Given the description of an element on the screen output the (x, y) to click on. 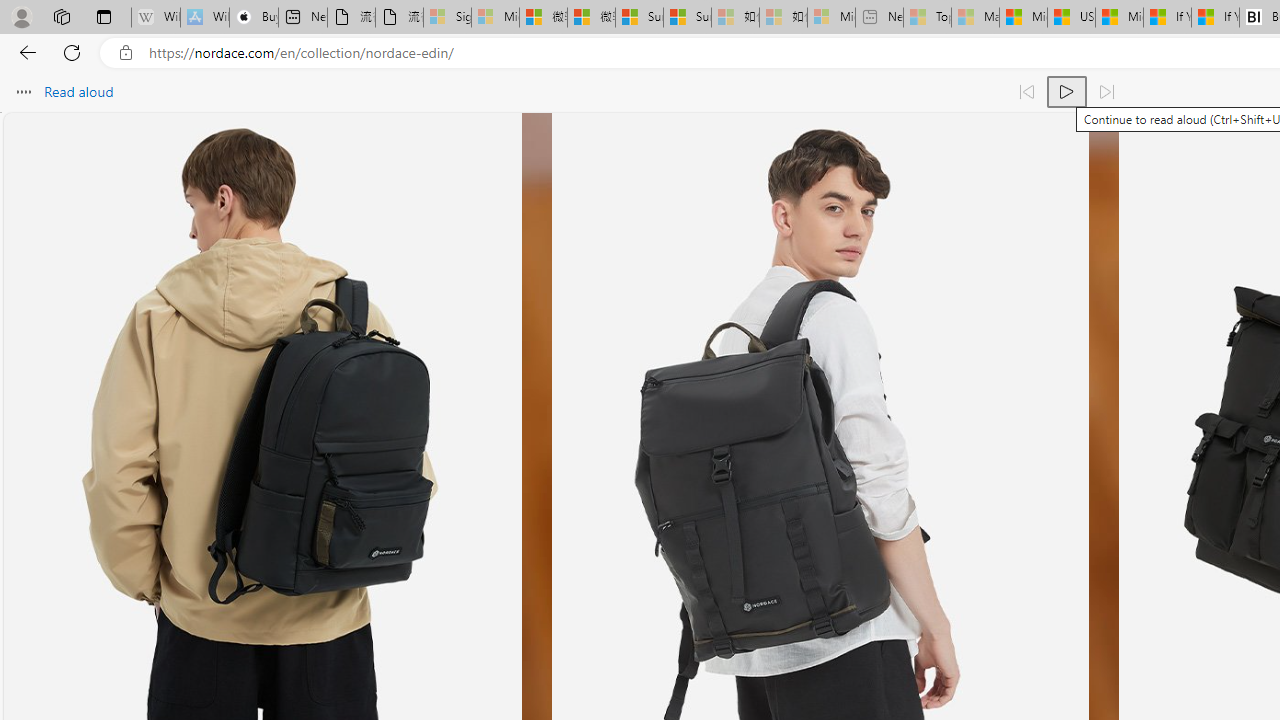
Read next paragraph (1105, 92)
Marine life - MSN - Sleeping (975, 17)
Sign in to your Microsoft account - Sleeping (447, 17)
Wikipedia - Sleeping (155, 17)
New tab - Sleeping (879, 17)
New tab (302, 17)
Microsoft Start (1119, 17)
Microsoft Services Agreement - Sleeping (495, 17)
Buy iPad - Apple (253, 17)
Workspaces (61, 16)
